Given the description of an element on the screen output the (x, y) to click on. 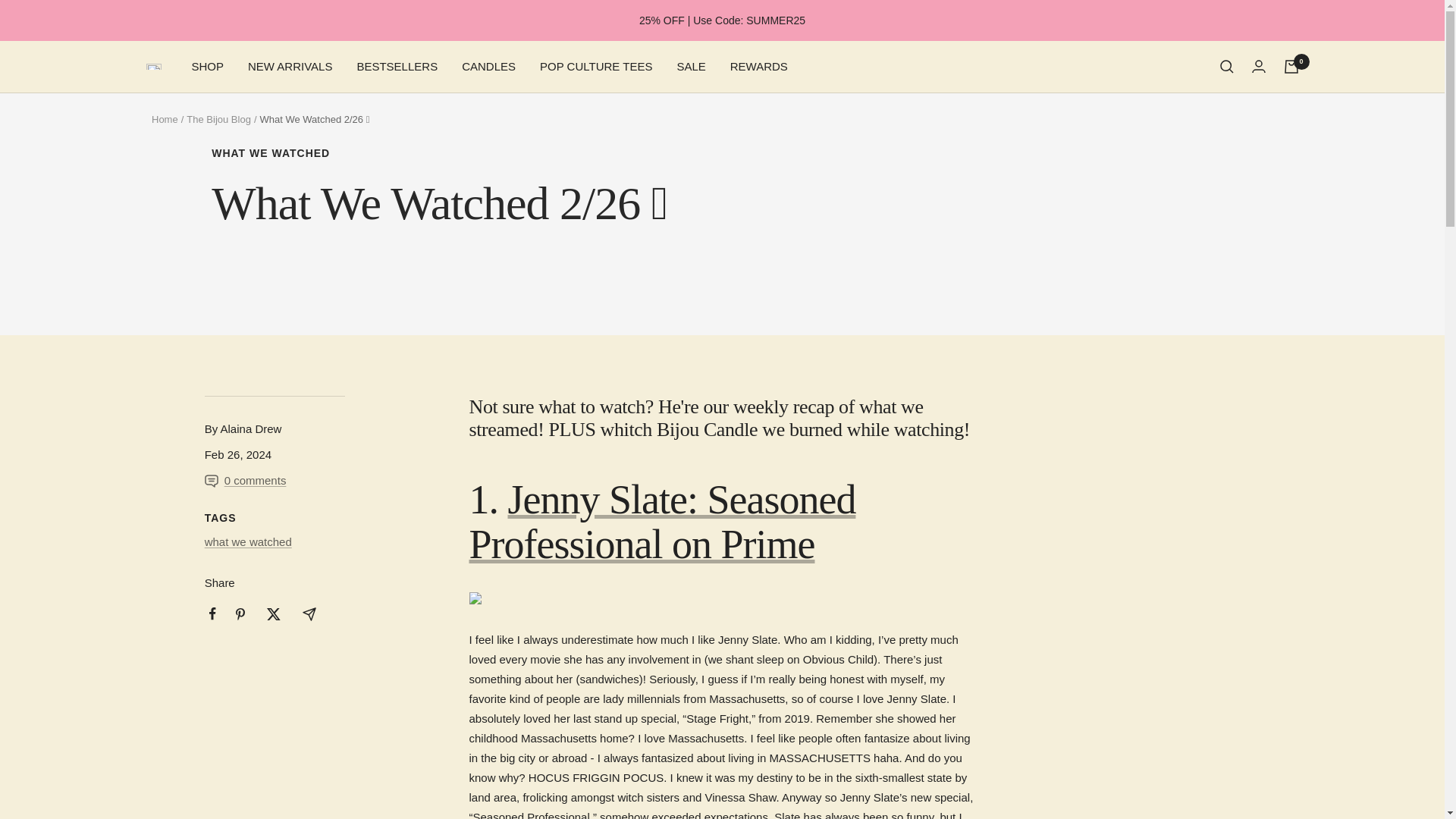
NEW ARRIVALS (289, 66)
Bijou Candles (152, 66)
0 (1290, 66)
SHOP (207, 66)
jenny slate seasoned professional (662, 521)
Home (164, 119)
what we watched (248, 541)
Jenny Slate: Seasoned Professional on Prime (662, 521)
CANDLES (488, 66)
POP CULTURE TEES (596, 66)
